Given the description of an element on the screen output the (x, y) to click on. 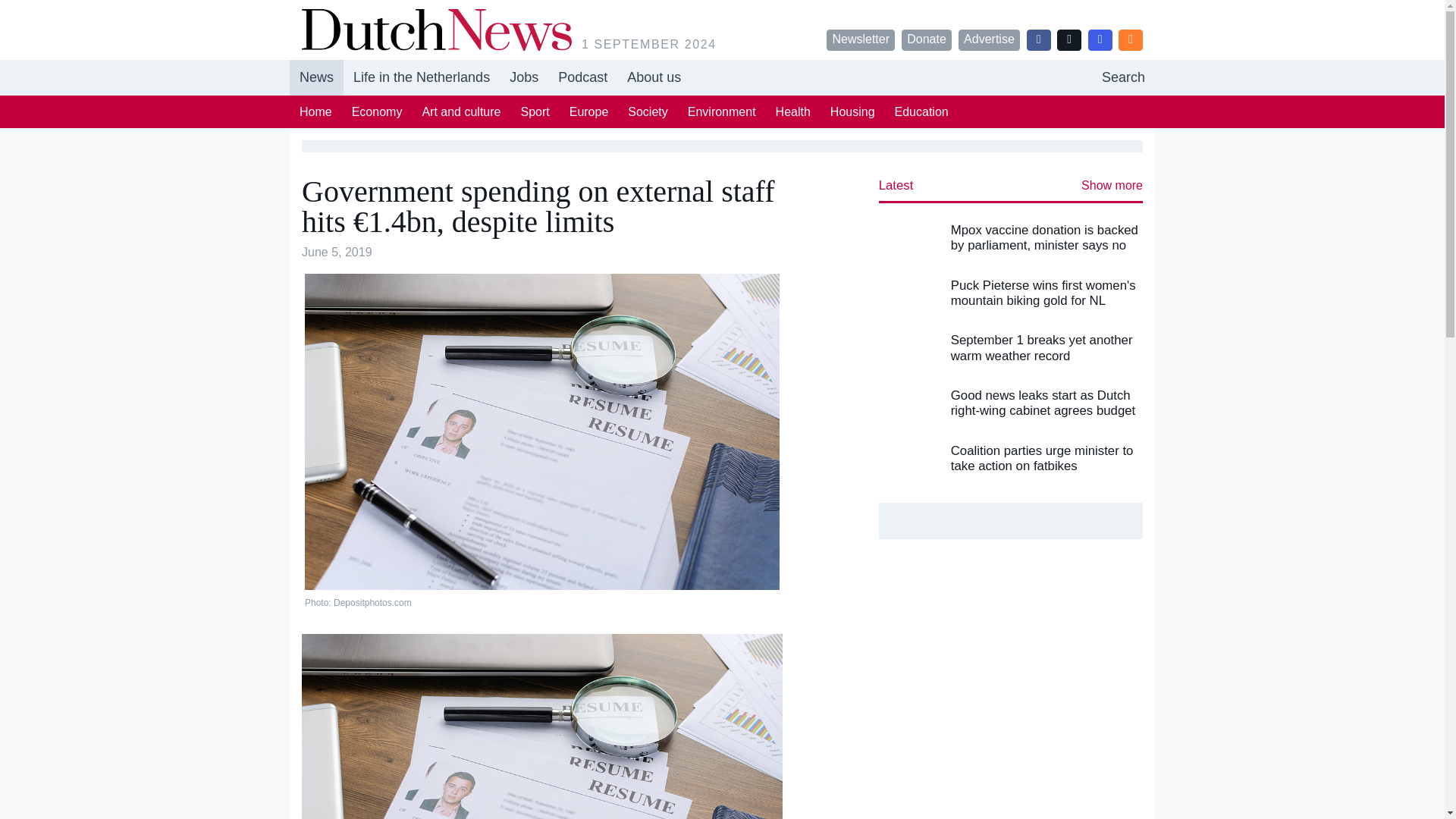
Art and culture (461, 111)
Sport (535, 111)
Advertise (989, 39)
Donate (926, 39)
Home (315, 111)
Environment (721, 111)
Housing (853, 111)
Life in the Netherlands (421, 77)
Economy (377, 111)
Search (1123, 77)
